Given the description of an element on the screen output the (x, y) to click on. 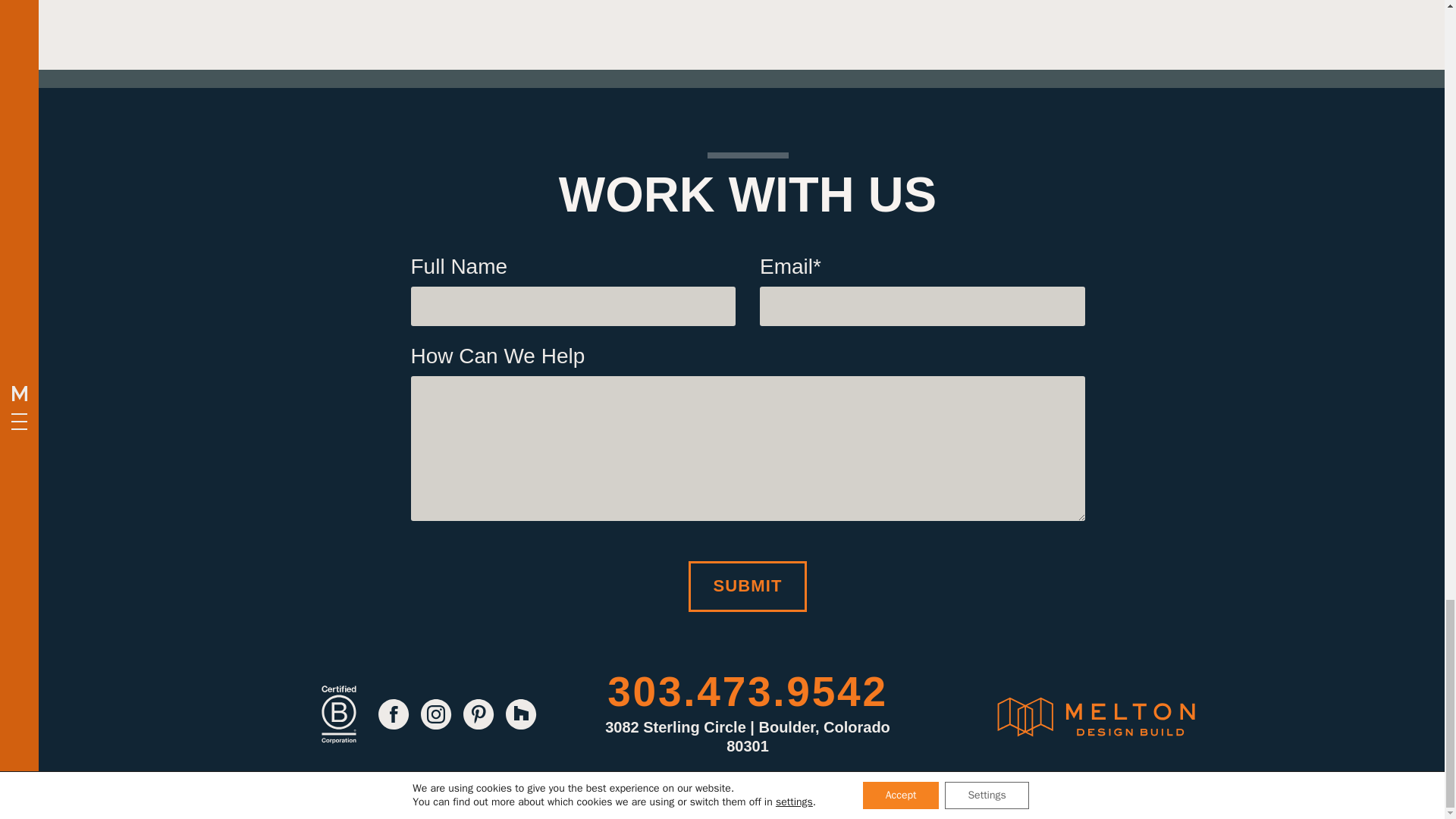
View the Vermilion site (747, 781)
Submit (748, 586)
